Given the description of an element on the screen output the (x, y) to click on. 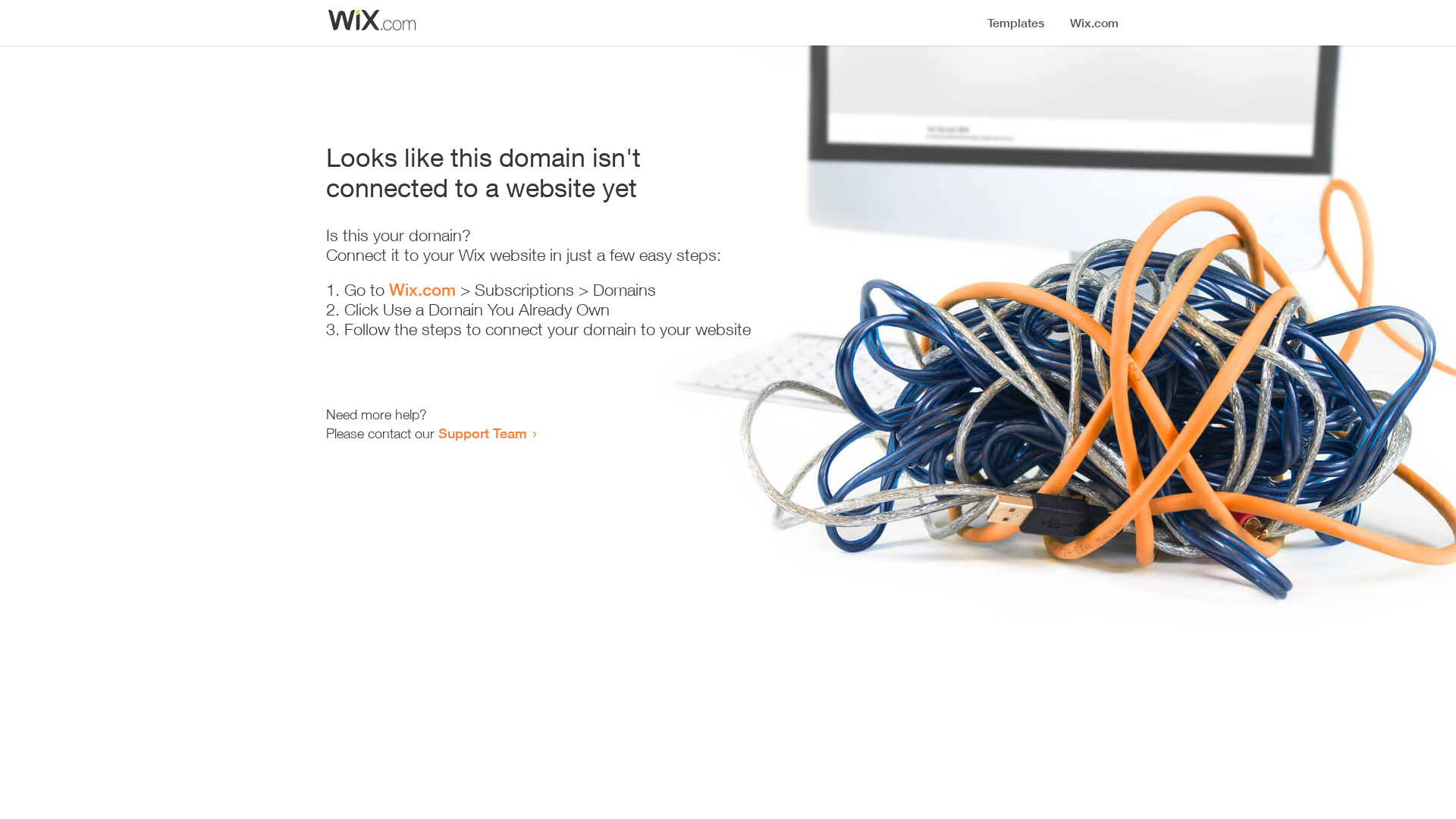
Support Team Element type: text (482, 432)
Wix.com Element type: text (422, 289)
